Given the description of an element on the screen output the (x, y) to click on. 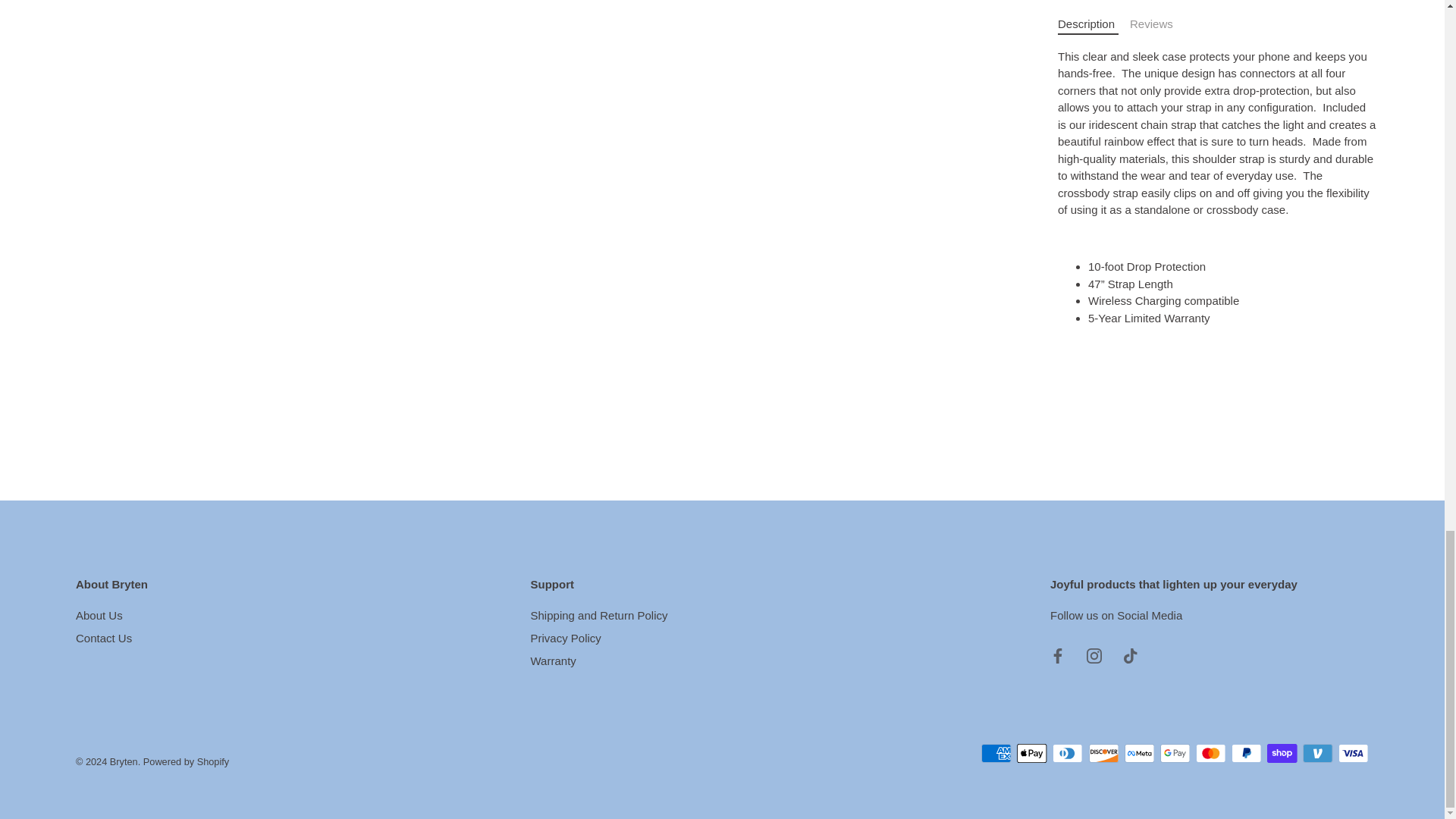
Meta Pay (1139, 752)
Instagram (1094, 655)
Apple Pay (1031, 752)
Venmo (1317, 752)
Discover (1104, 752)
Google Pay (1174, 752)
Shop Pay (1281, 752)
Diners Club (1067, 752)
American Express (996, 752)
Visa (1353, 752)
